Given the description of an element on the screen output the (x, y) to click on. 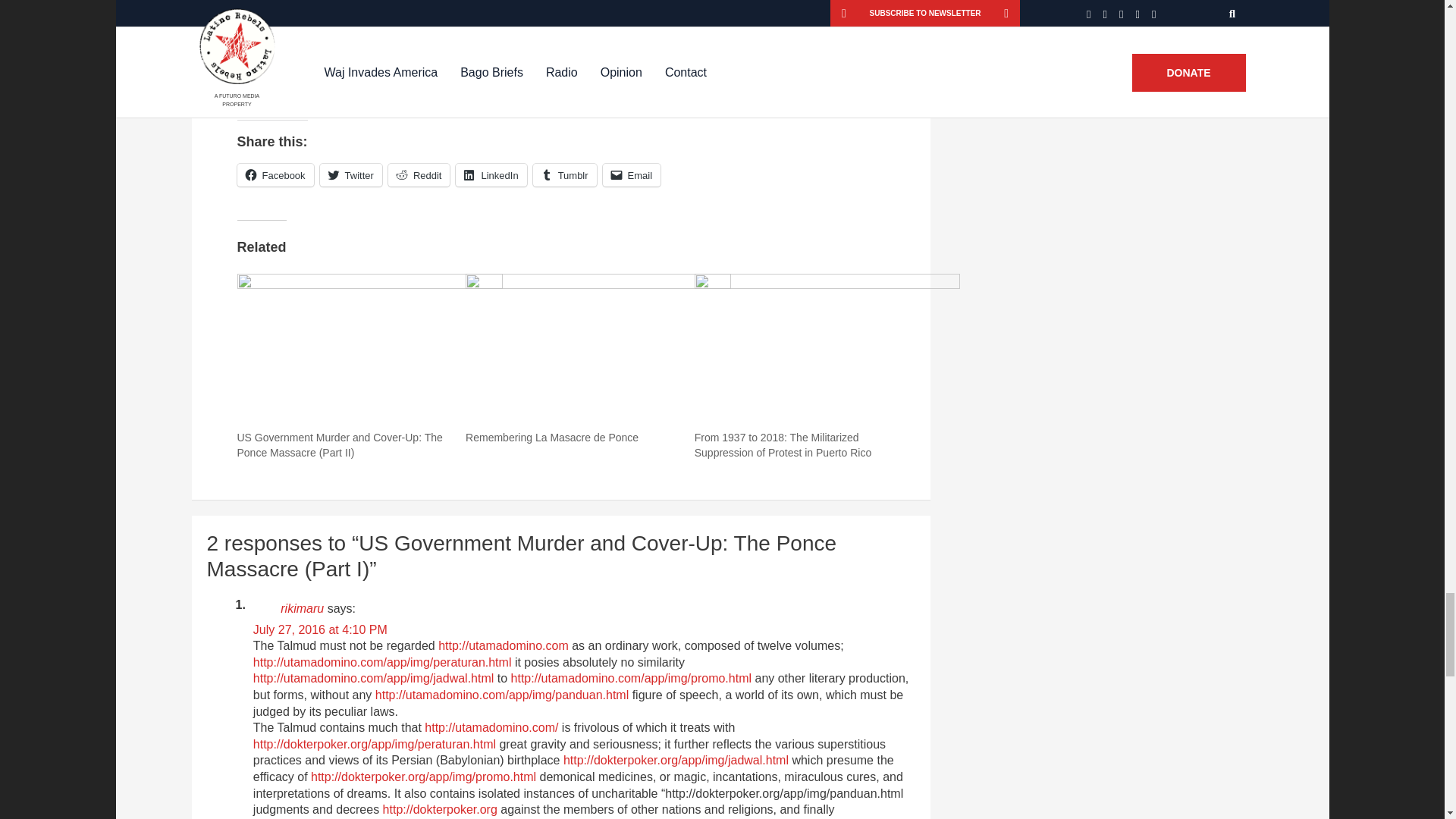
Click to share on Facebook (274, 174)
Hotel Workers Strike Back (502, 51)
Click to share on Reddit (418, 174)
Click to share on Twitter (350, 174)
Hotel Workers in LA Hold Strike, Demand Living Wage (325, 51)
